Given the description of an element on the screen output the (x, y) to click on. 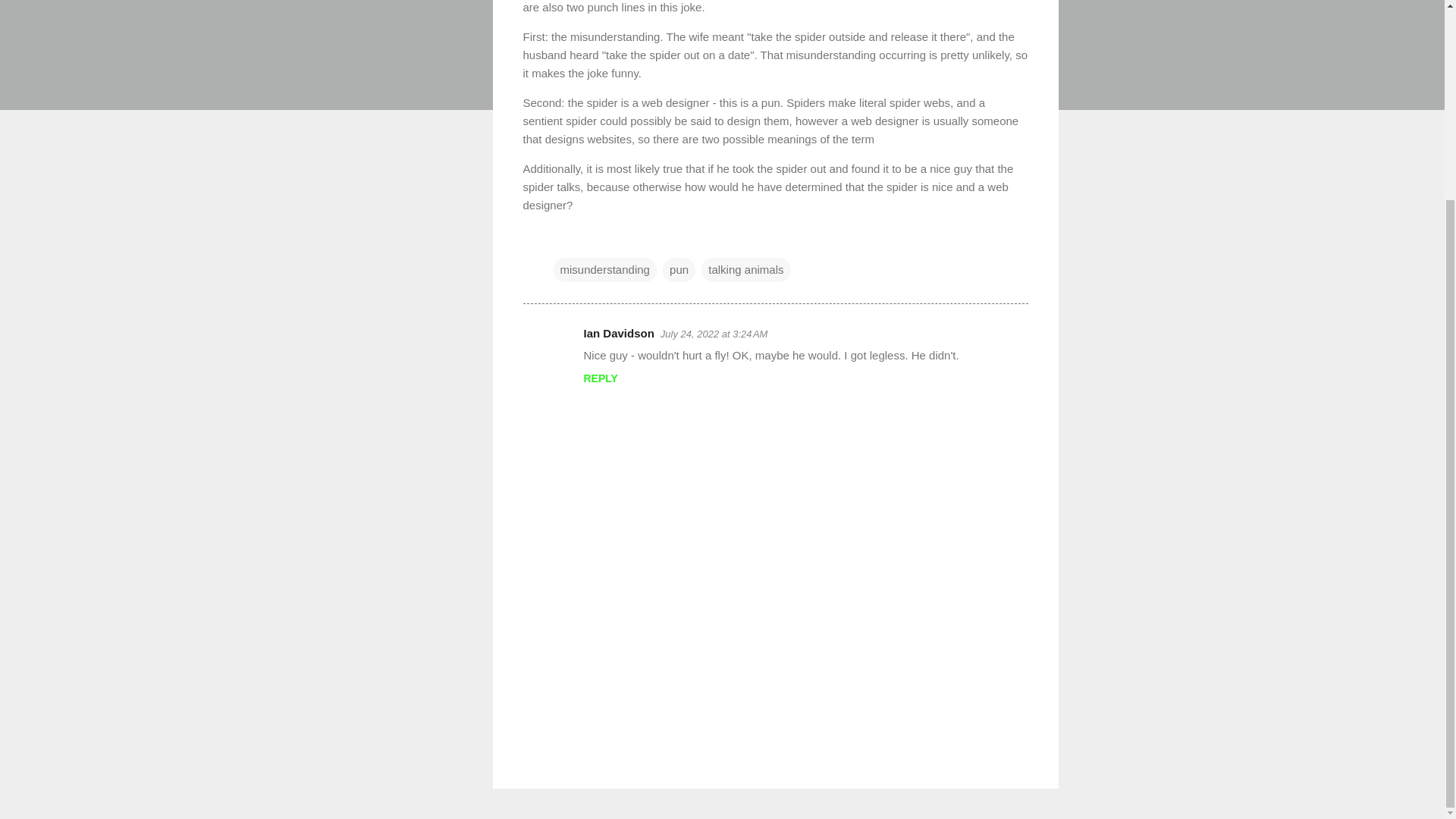
talking animals (745, 269)
pun (678, 269)
Ian Davidson (618, 332)
misunderstanding (604, 269)
REPLY (600, 378)
